Given the description of an element on the screen output the (x, y) to click on. 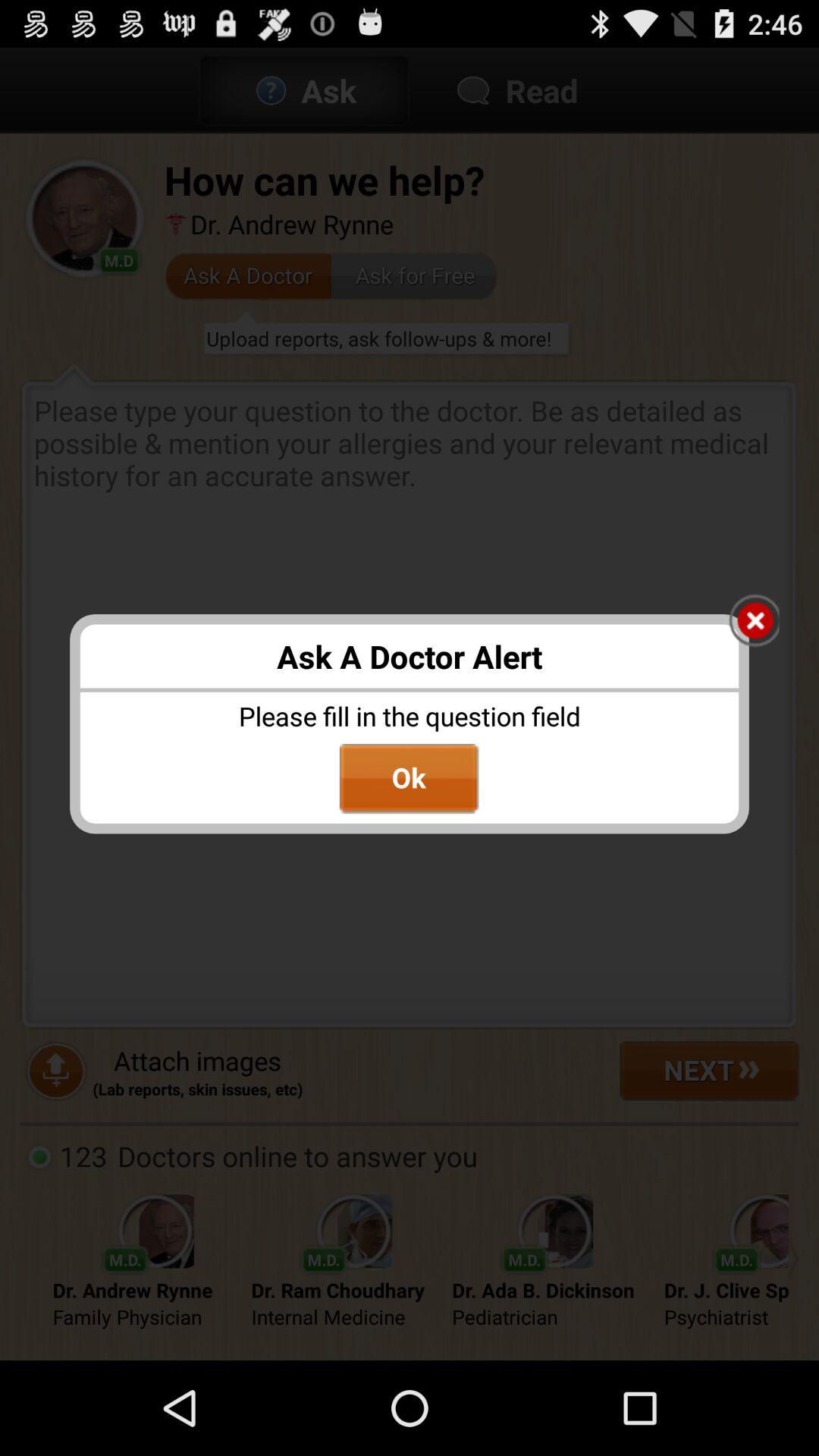
close icon (753, 622)
